Given the description of an element on the screen output the (x, y) to click on. 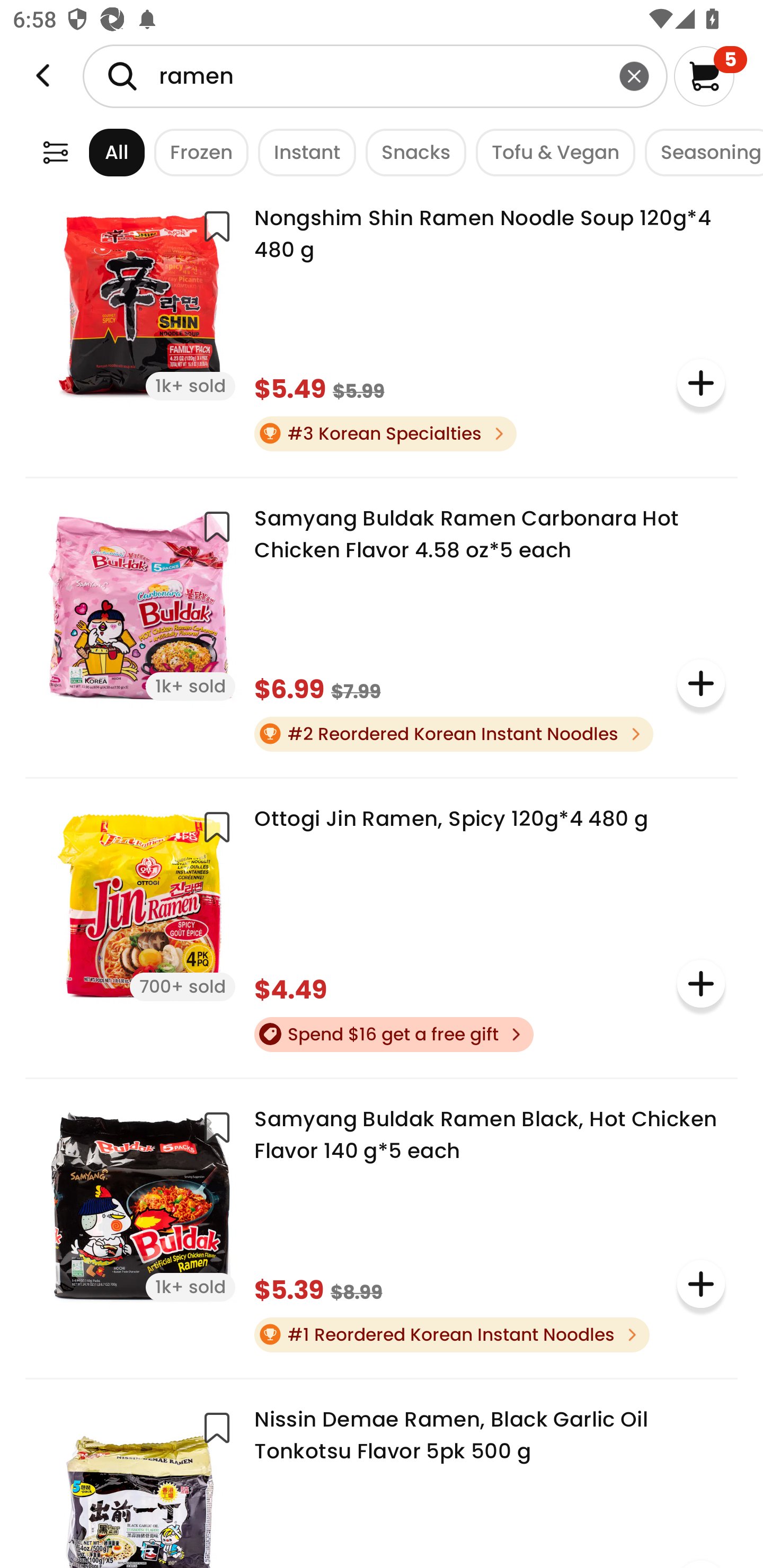
ramen (374, 75)
5 (709, 75)
Weee! (42, 76)
Weee! (55, 151)
All (99, 151)
Frozen (196, 151)
Instant (302, 151)
Snacks (411, 151)
Tofu & Vegan (550, 151)
Seasoning (699, 151)
